Given the description of an element on the screen output the (x, y) to click on. 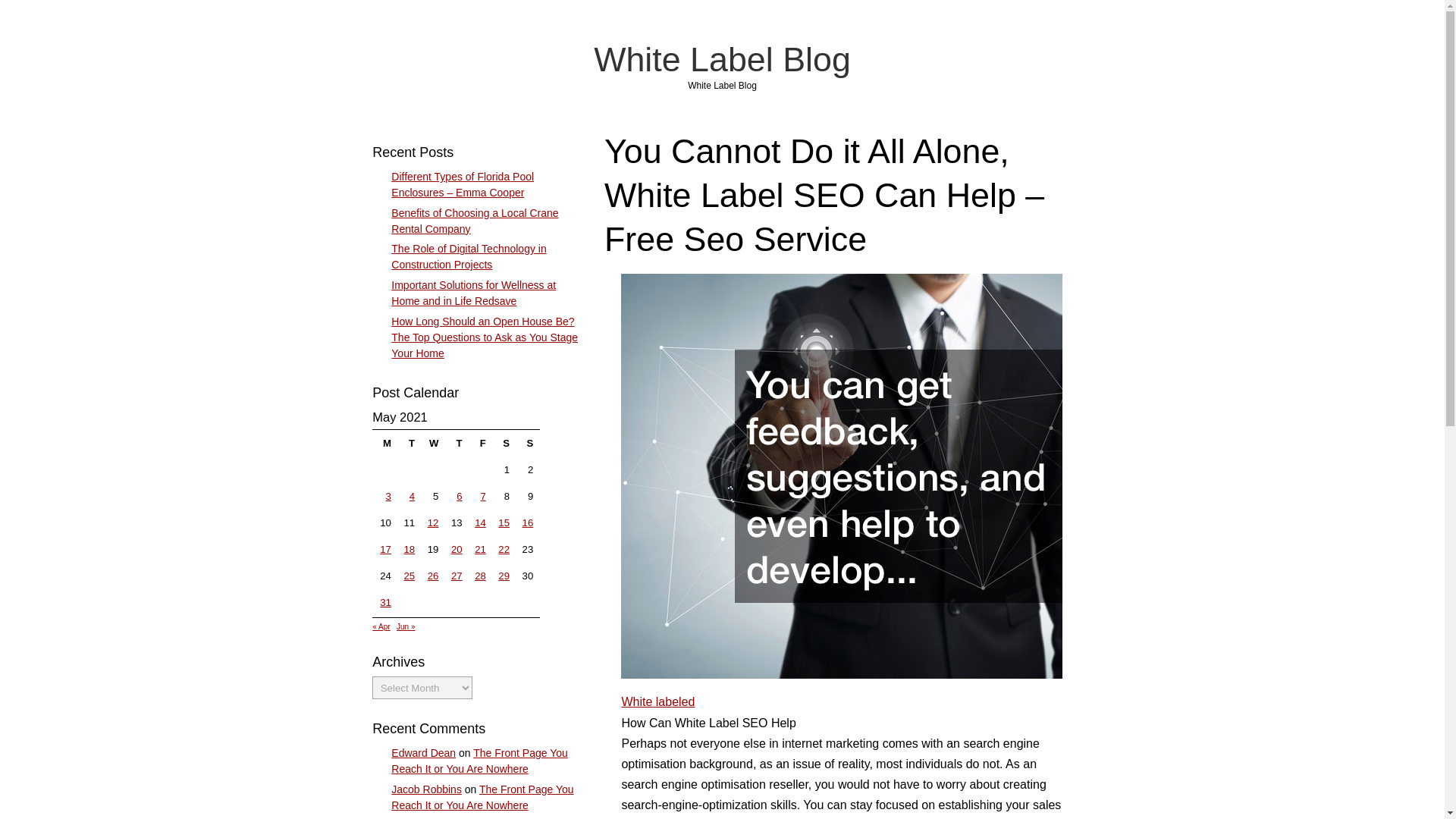
21 (480, 549)
Benefits of Choosing a Local Crane Rental Company (474, 221)
17 (385, 549)
27 (457, 575)
Friday (479, 443)
The Role of Digital Technology in Construction Projects (468, 256)
Thursday (456, 443)
14 (480, 522)
Wednesday (433, 443)
22 (503, 549)
26 (433, 575)
28 (480, 575)
Jacob Robbins (426, 788)
The Front Page You Reach It or You Are Nowhere (479, 760)
White labeled (657, 701)
